Given the description of an element on the screen output the (x, y) to click on. 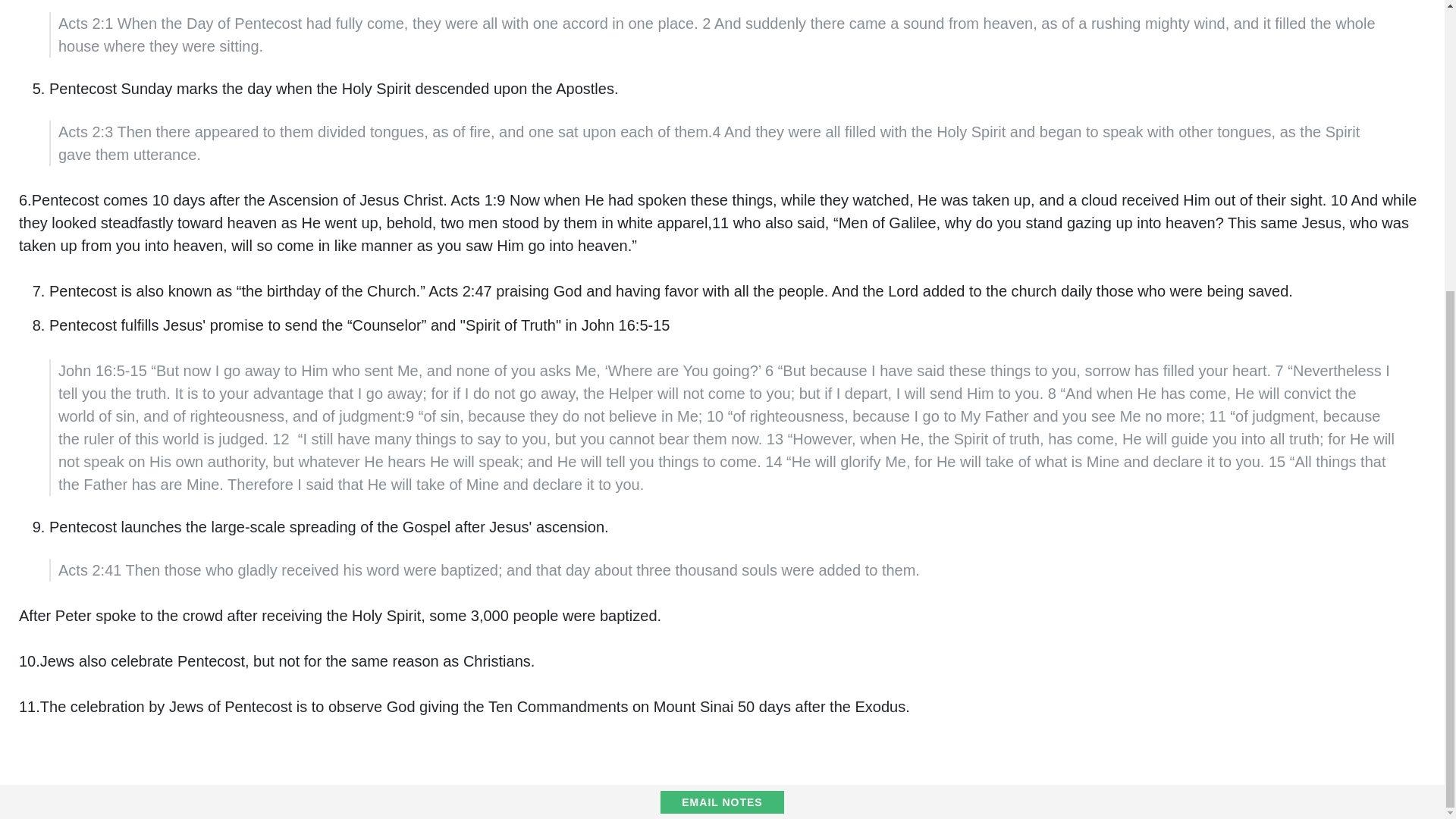
EMAIL NOTES (722, 802)
